Given the description of an element on the screen output the (x, y) to click on. 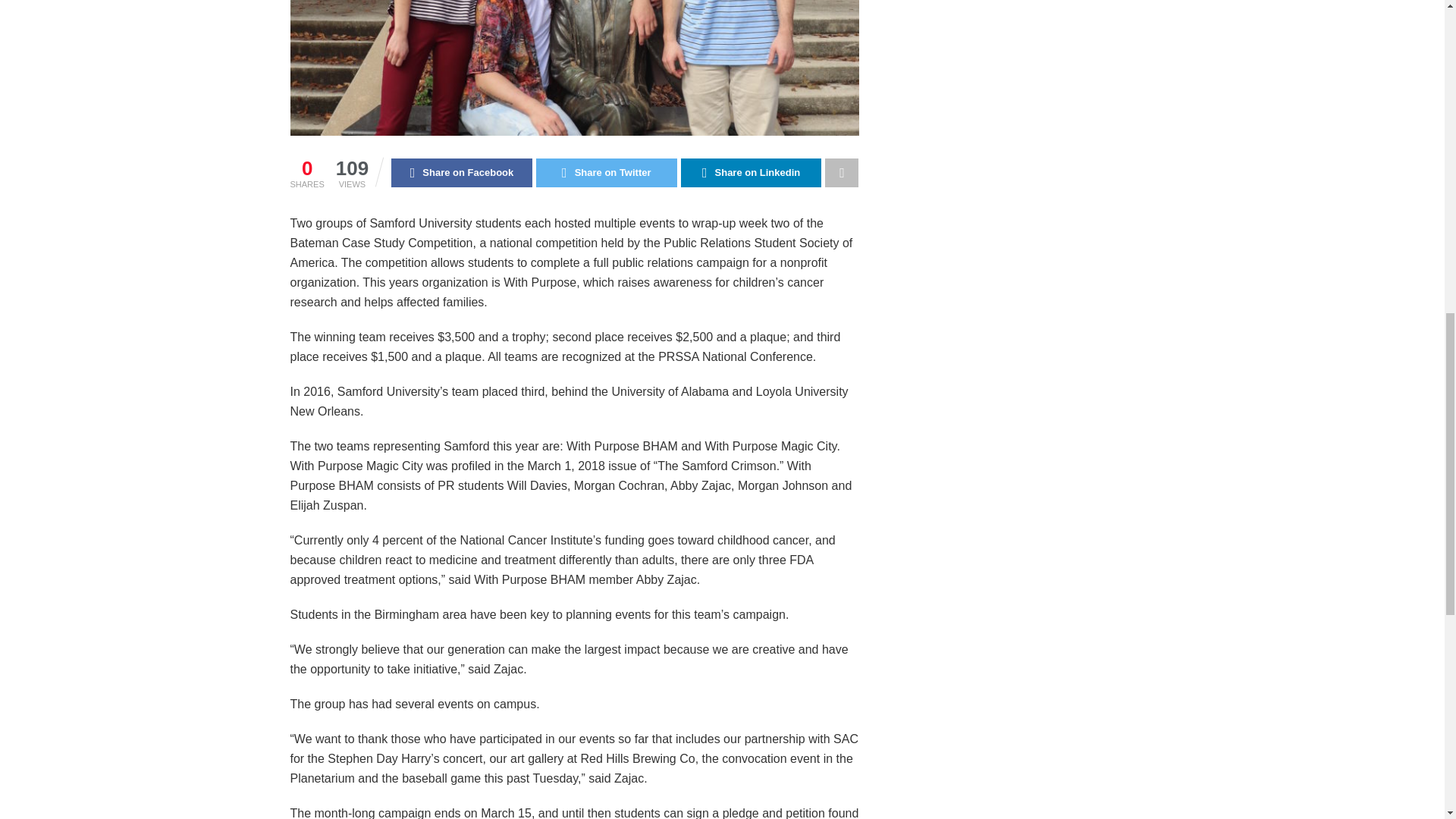
Share on Twitter (606, 172)
Share on Facebook (461, 172)
Share on Linkedin (751, 172)
